Given the description of an element on the screen output the (x, y) to click on. 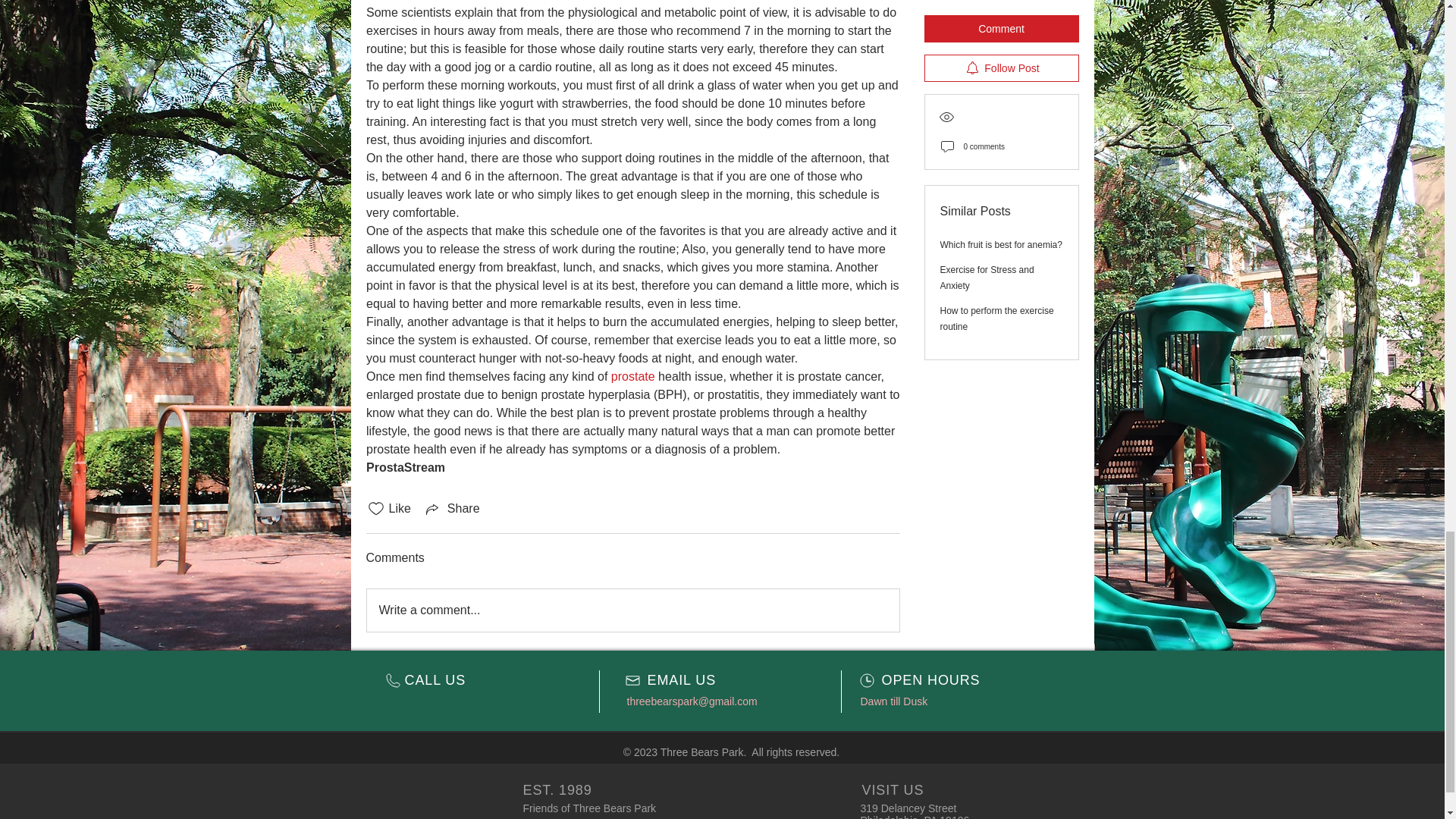
prostate (631, 376)
ProstaStream (404, 467)
Write a comment... (632, 609)
Share (451, 508)
